Given the description of an element on the screen output the (x, y) to click on. 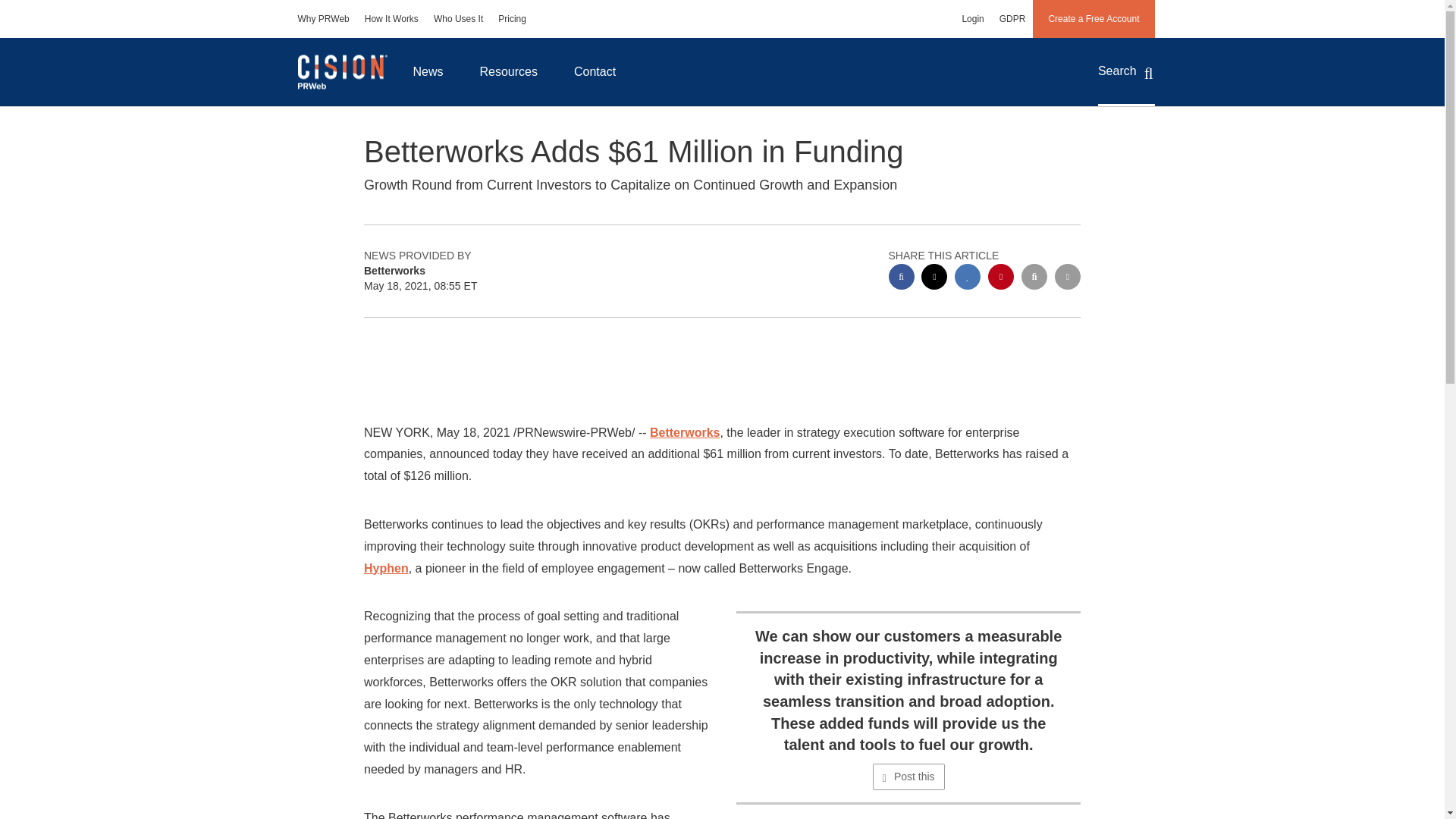
News (427, 71)
Why PRWeb (322, 18)
How It Works (391, 18)
Create a Free Account (1093, 18)
Who Uses It (458, 18)
Login (972, 18)
GDPR (1012, 18)
Resources (508, 71)
Pricing (512, 18)
